Given the description of an element on the screen output the (x, y) to click on. 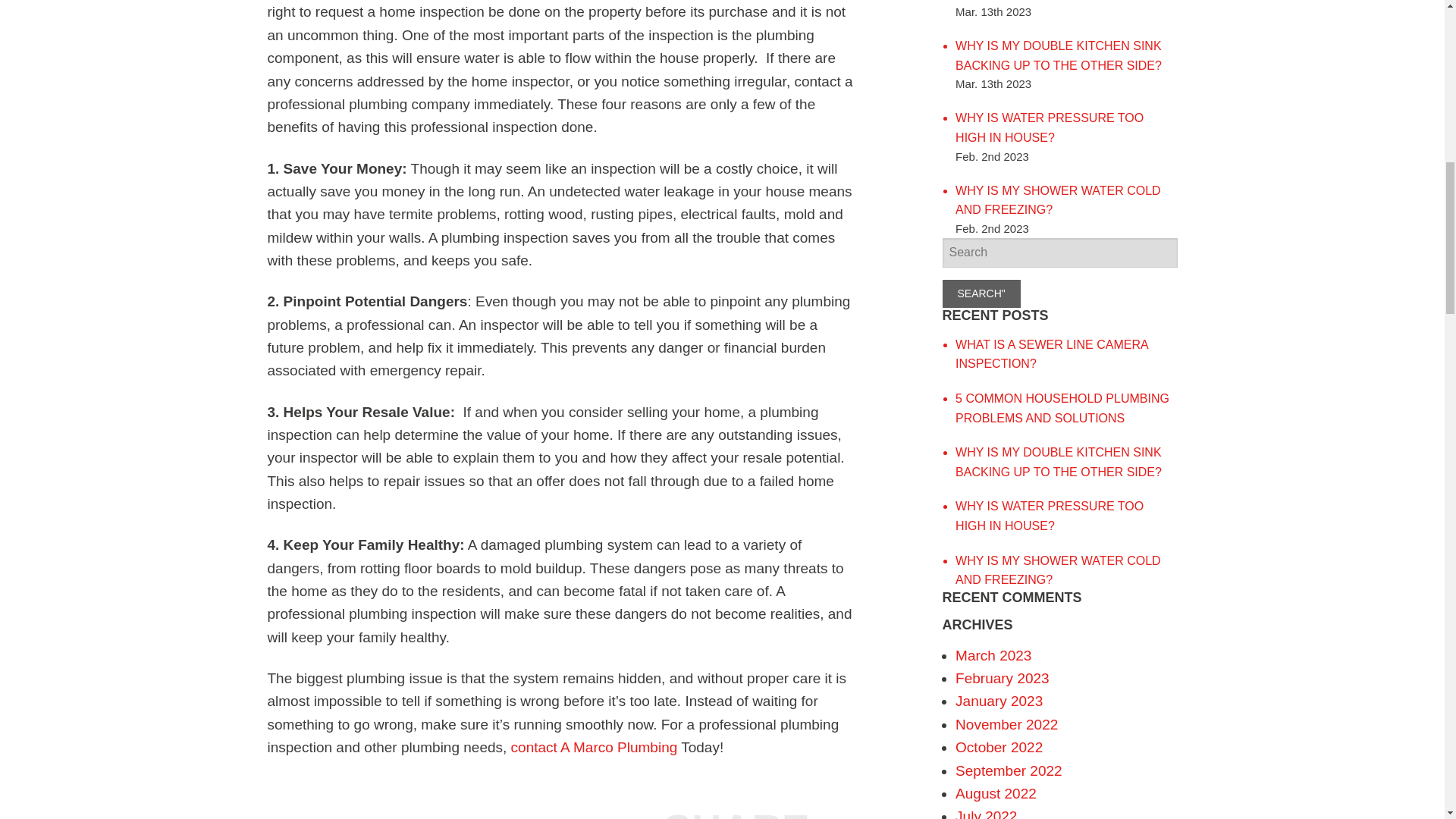
Search (981, 293)
